Given the description of an element on the screen output the (x, y) to click on. 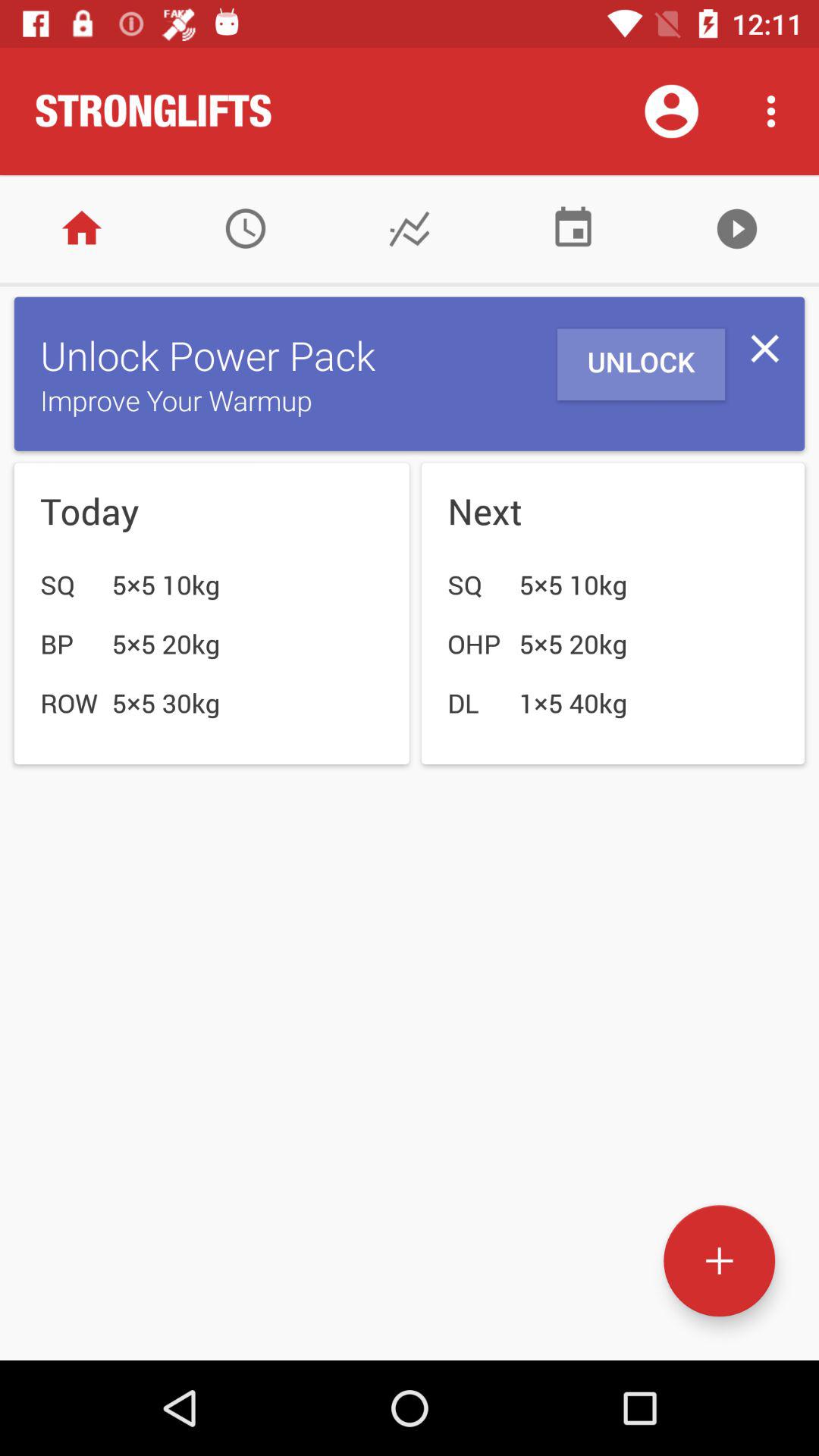
goes to app 's home screen (81, 228)
